Given the description of an element on the screen output the (x, y) to click on. 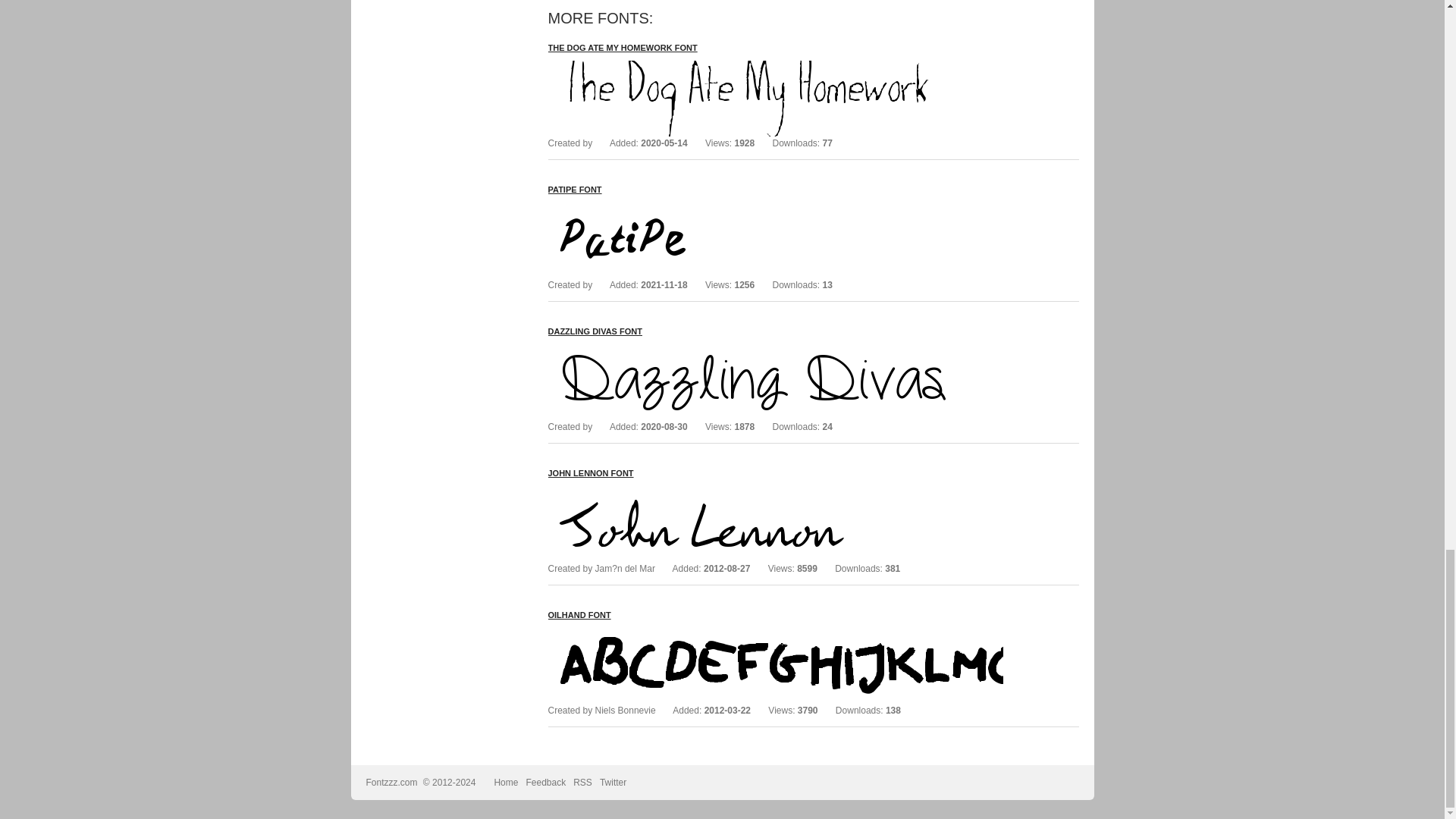
Dazzling Divas font (594, 330)
Oilhand font (775, 634)
The Dog Ate My Homework font (622, 47)
PatiPe font (775, 208)
PatiPe font (574, 189)
John Lennon font (590, 472)
The Dog Ate My Homework font (775, 67)
John Lennon font (775, 492)
Oilhand font (578, 614)
Dazzling Divas font (775, 350)
